Given the description of an element on the screen output the (x, y) to click on. 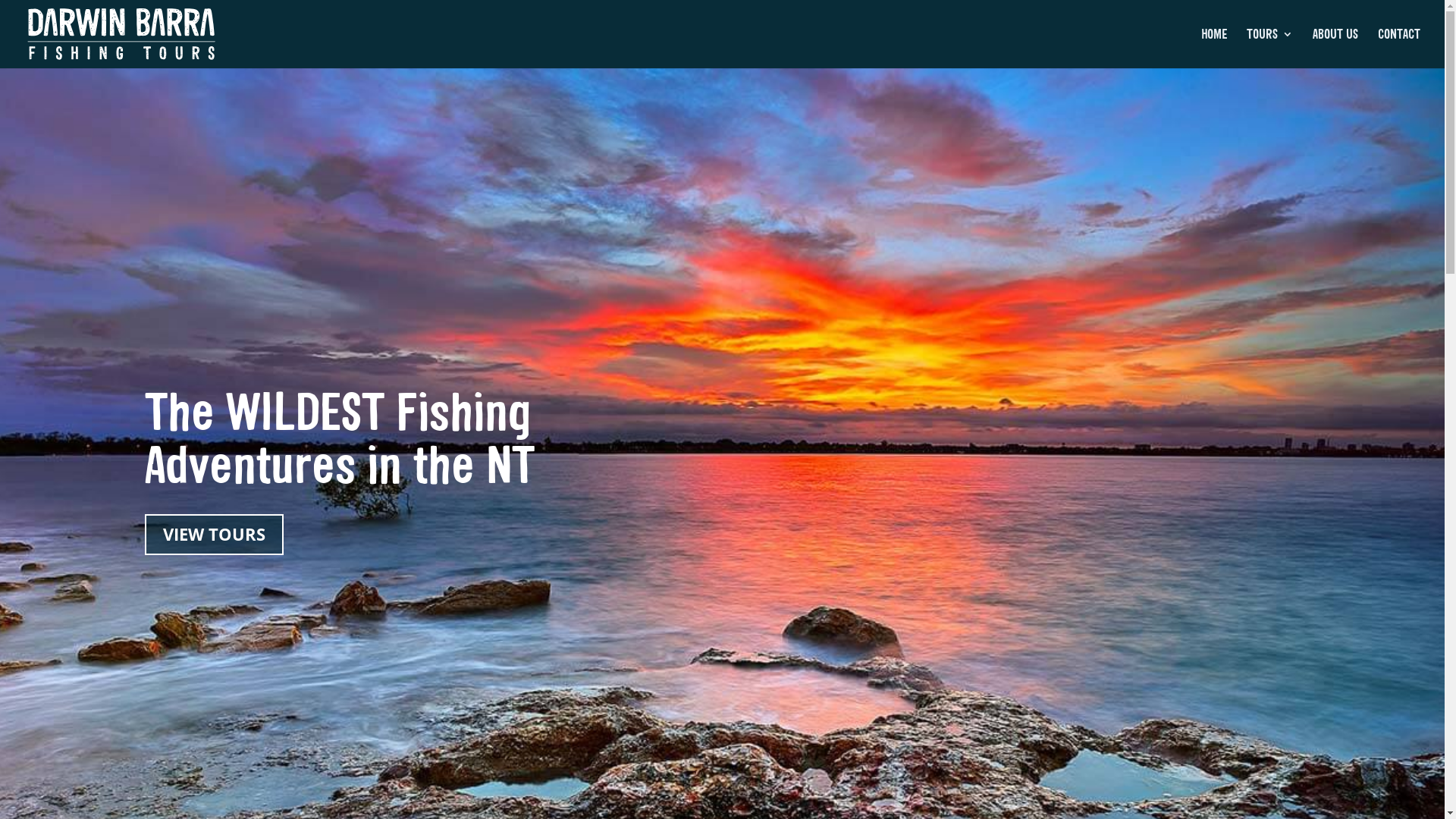
CONTACT Element type: text (1398, 48)
ABOUT US Element type: text (1335, 48)
VIEW TOURS Element type: text (213, 534)
TOURS Element type: text (1269, 48)
HOME Element type: text (1213, 48)
